Given the description of an element on the screen output the (x, y) to click on. 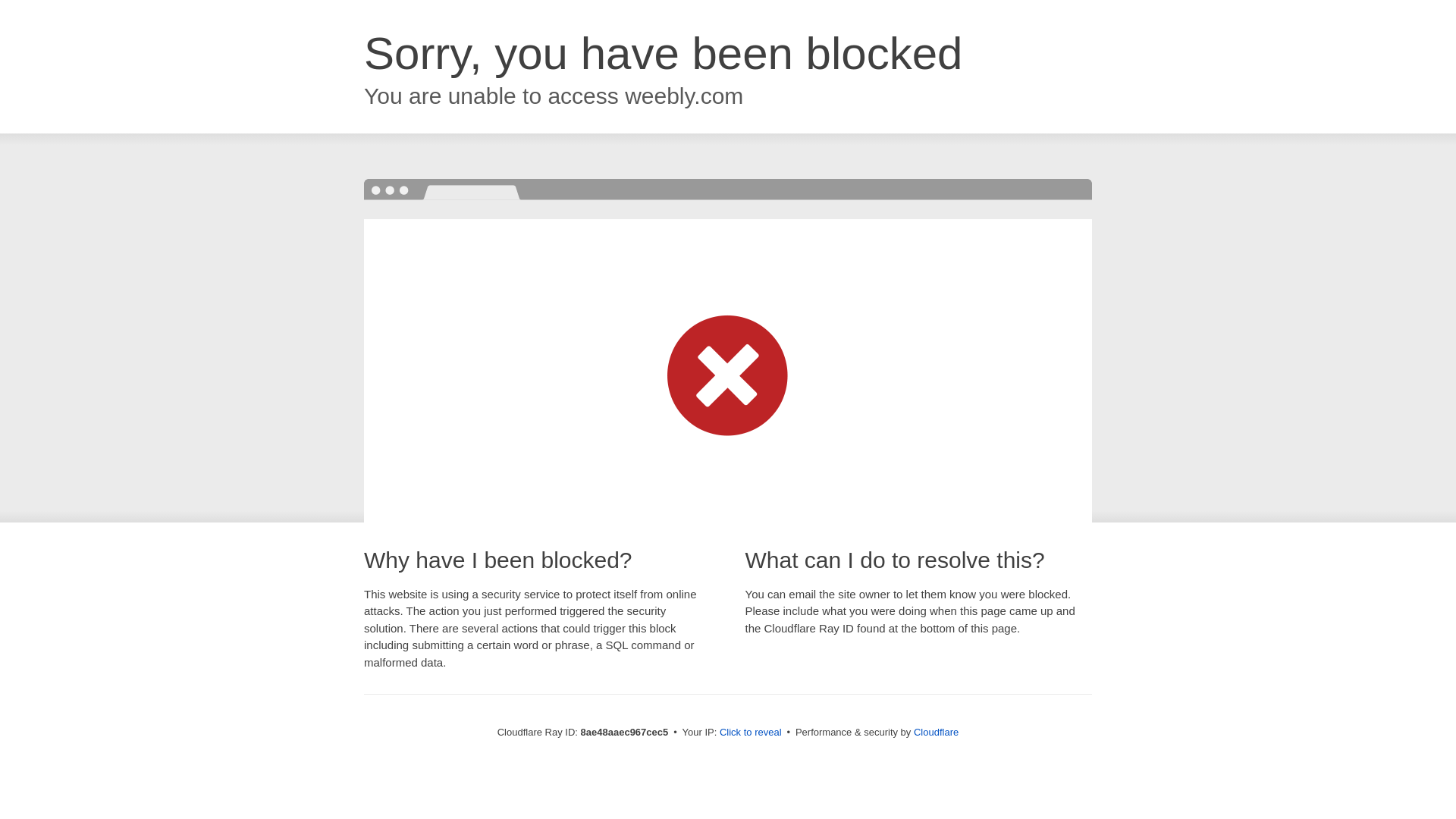
Click to reveal (750, 732)
Cloudflare (936, 731)
